Given the description of an element on the screen output the (x, y) to click on. 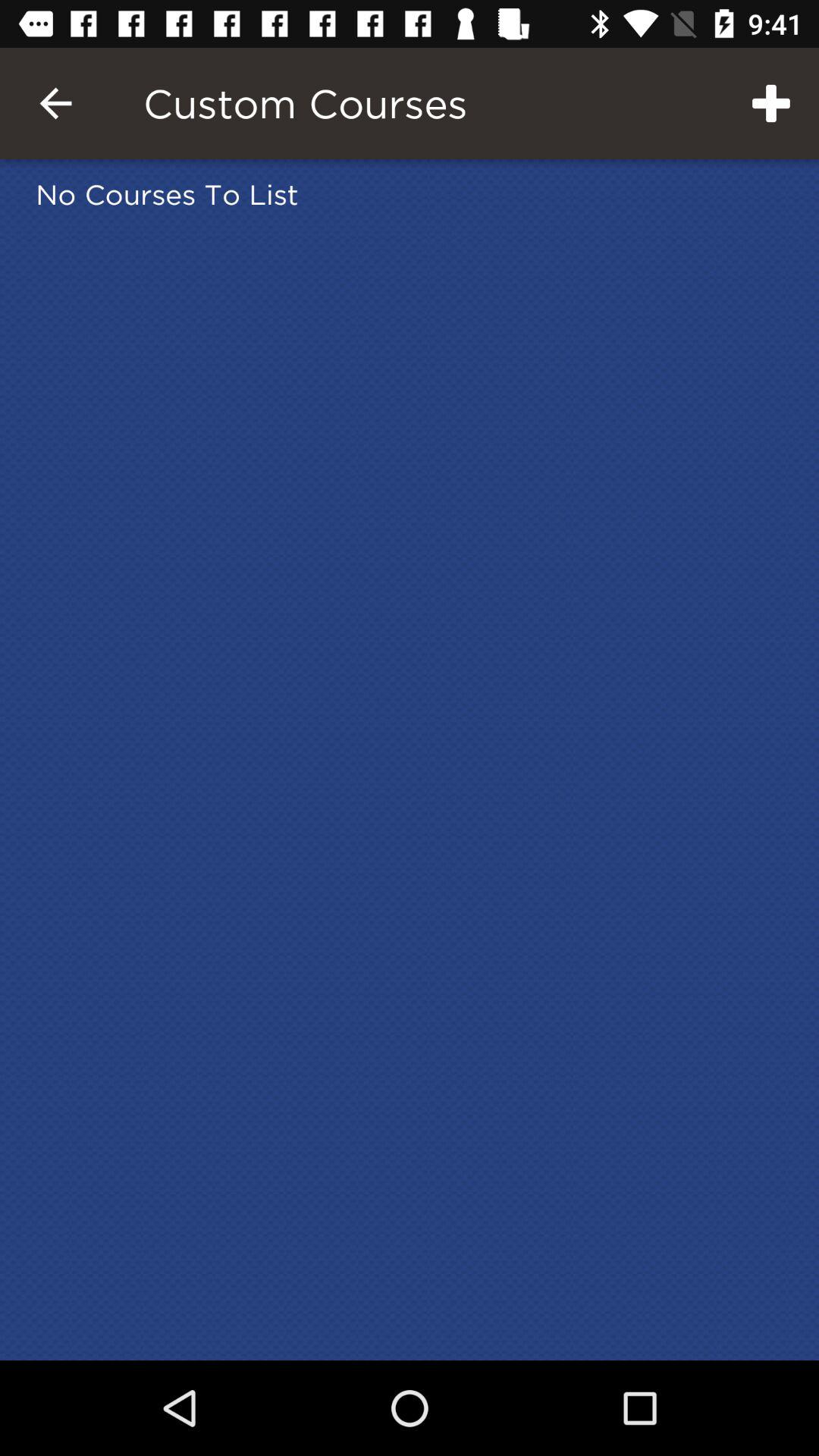
choose icon above the no courses to item (771, 103)
